Given the description of an element on the screen output the (x, y) to click on. 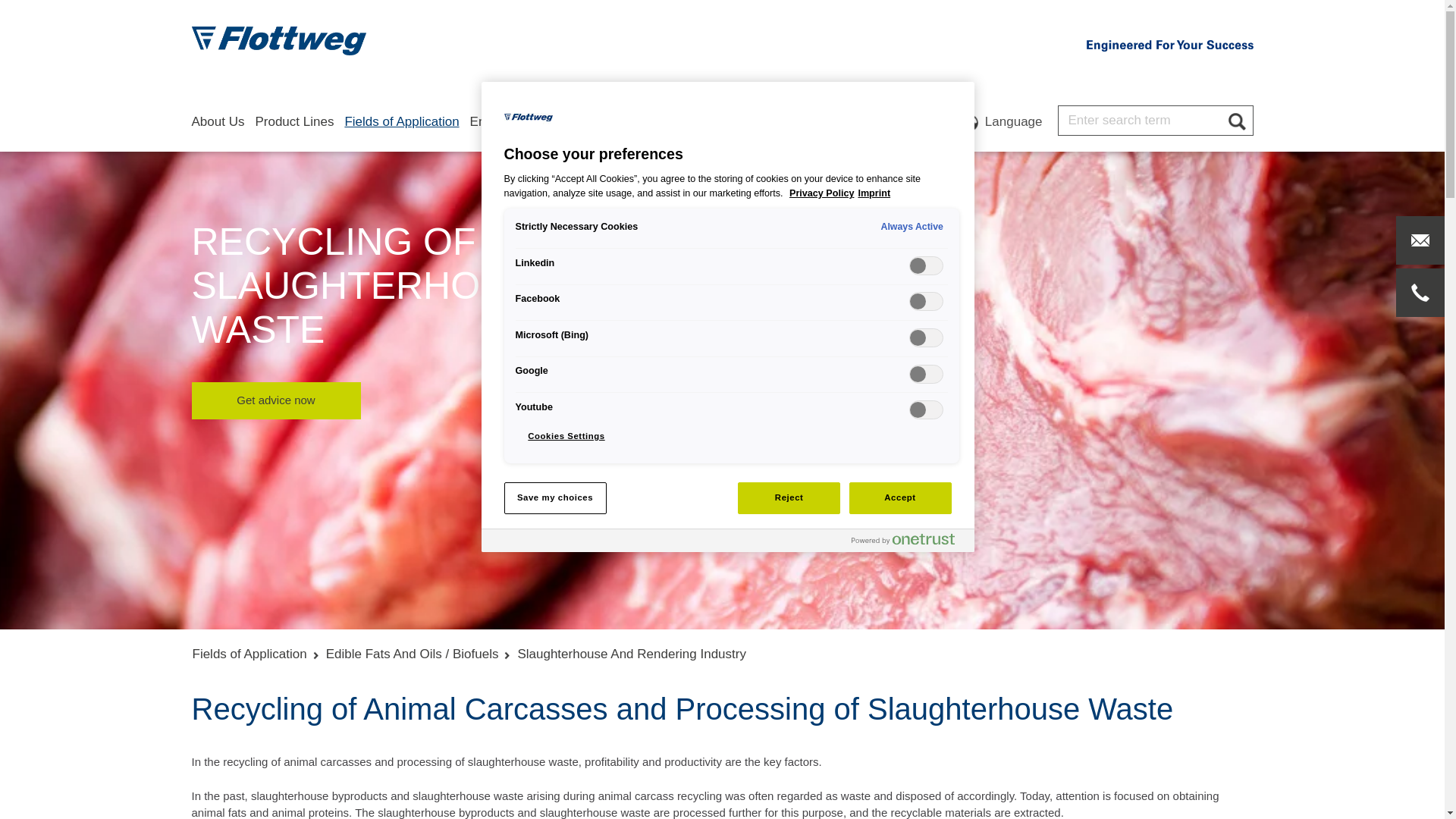
About Us (217, 133)
About Us (217, 133)
Product Lines (293, 133)
Engineered For Your Success (1169, 45)
Flottweg SE (277, 40)
